Given the description of an element on the screen output the (x, y) to click on. 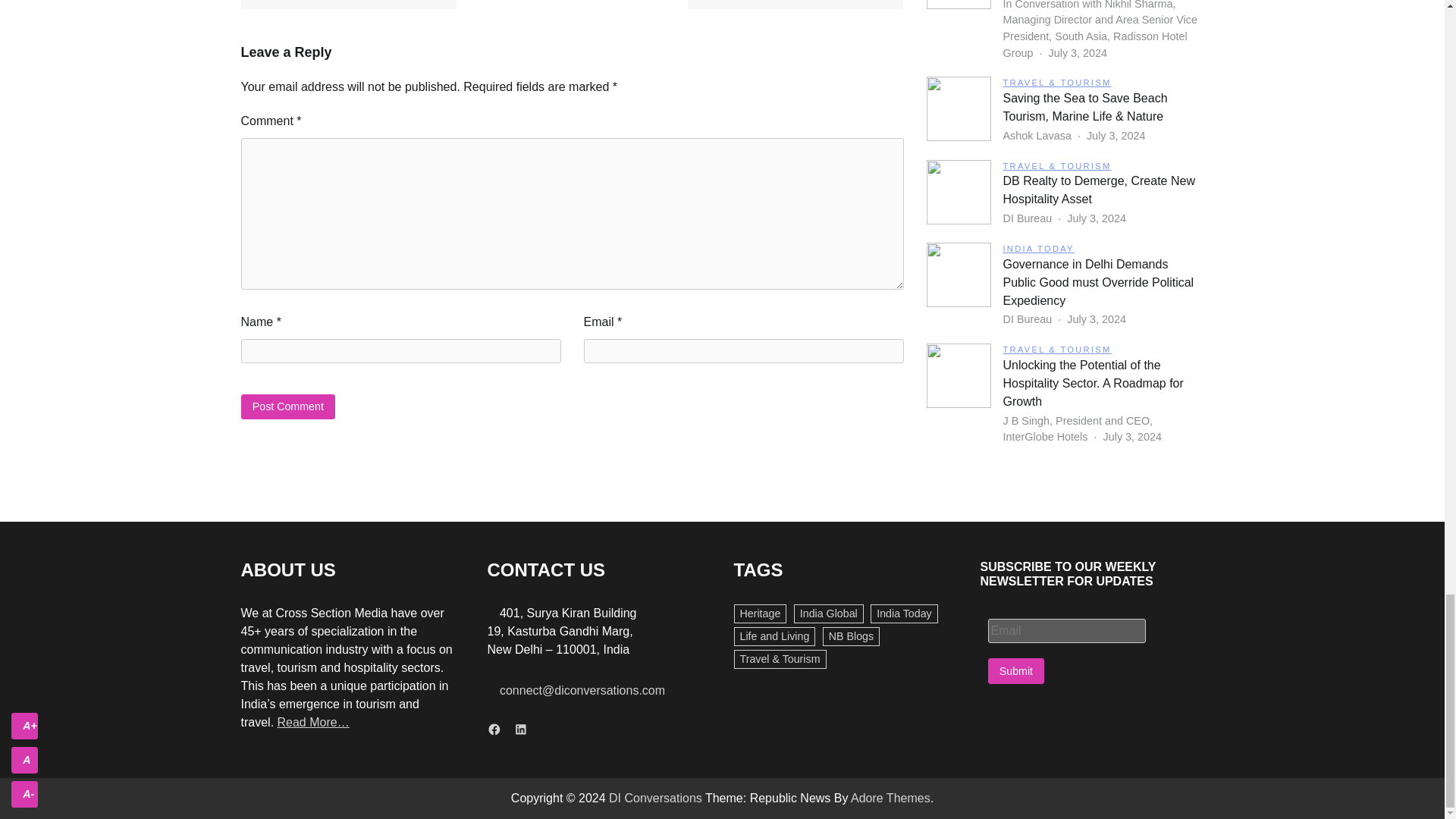
Email (1065, 630)
Post Comment (288, 406)
Post Comment (288, 406)
